Given the description of an element on the screen output the (x, y) to click on. 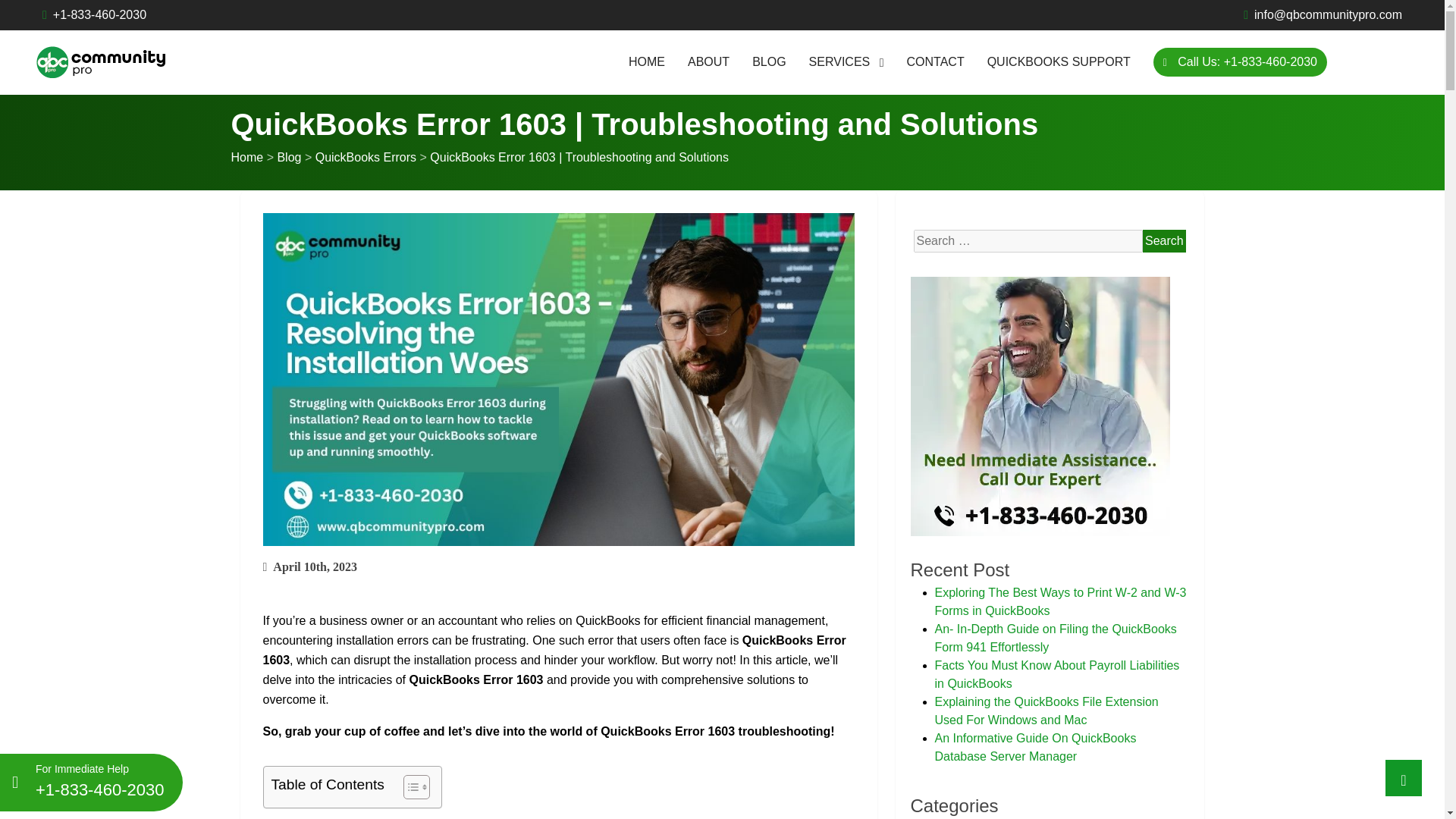
SERVICES (846, 62)
Home (246, 156)
QuickBooks Errors (365, 156)
Go to Qb Community Pro. (246, 156)
CONTACT (935, 62)
Search (1164, 241)
Blog (288, 156)
Go to Blog. (288, 156)
Go to the QuickBooks Errors Category archives. (365, 156)
Search (1164, 241)
QUICKBOOKS SUPPORT (1059, 62)
